Given the description of an element on the screen output the (x, y) to click on. 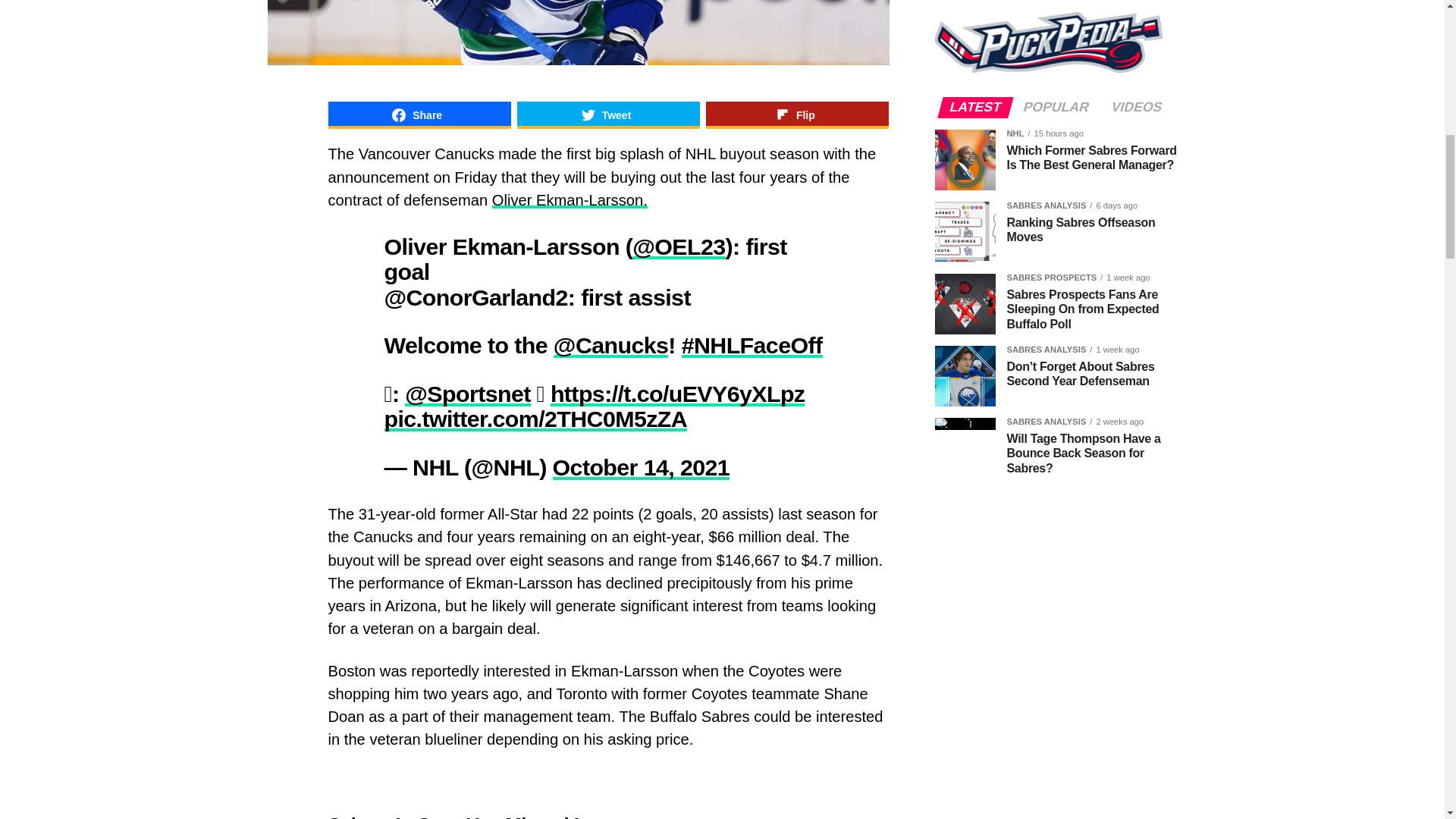
Share on Share (419, 114)
Share on Tweet (608, 114)
Share on Flip (797, 114)
